Given the description of an element on the screen output the (x, y) to click on. 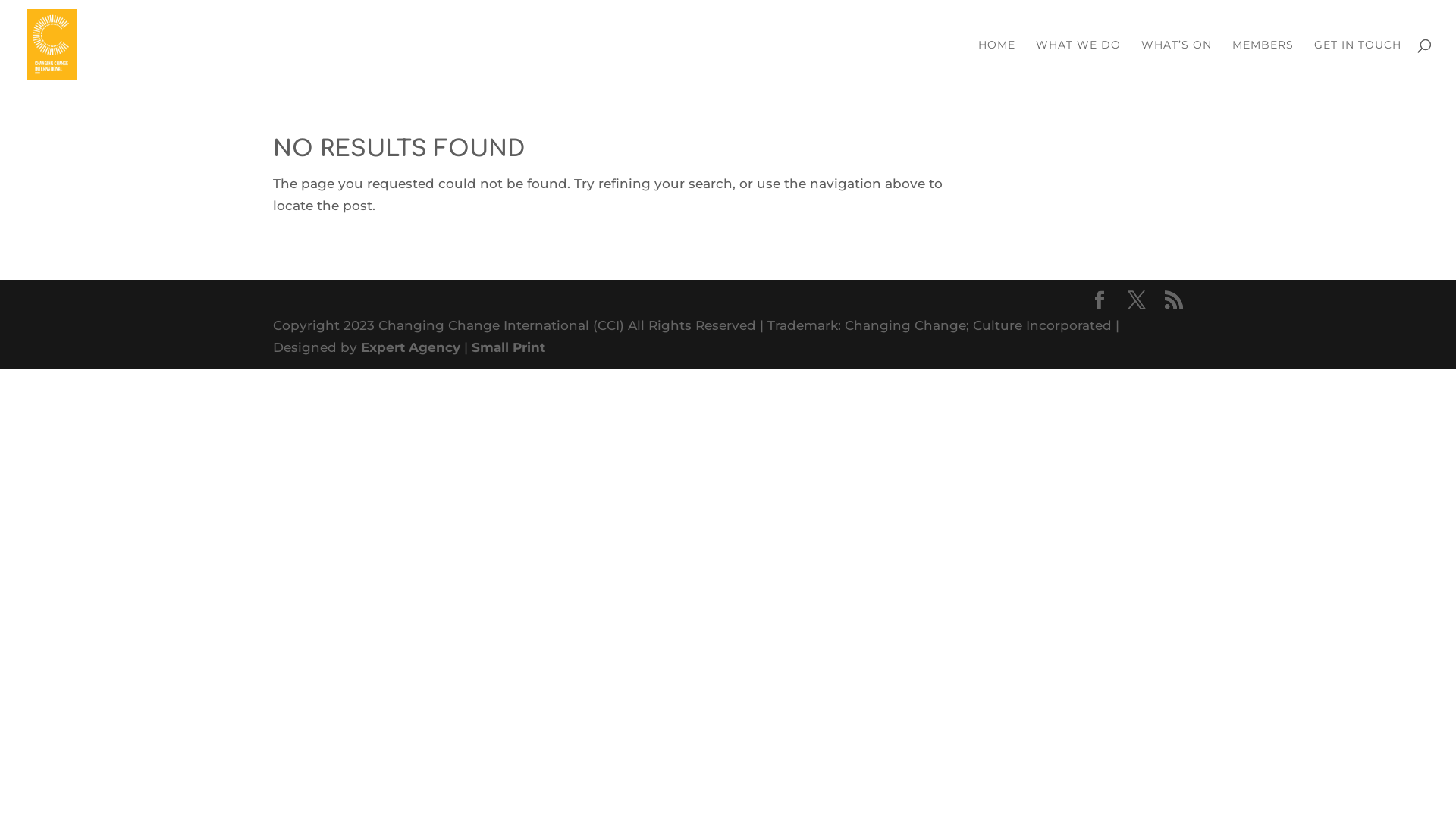
HOME Element type: text (996, 64)
GET IN TOUCH Element type: text (1357, 64)
Expert Agency Element type: text (410, 346)
WHAT WE DO Element type: text (1077, 64)
Small Print Element type: text (508, 346)
MEMBERS Element type: text (1262, 64)
